Given the description of an element on the screen output the (x, y) to click on. 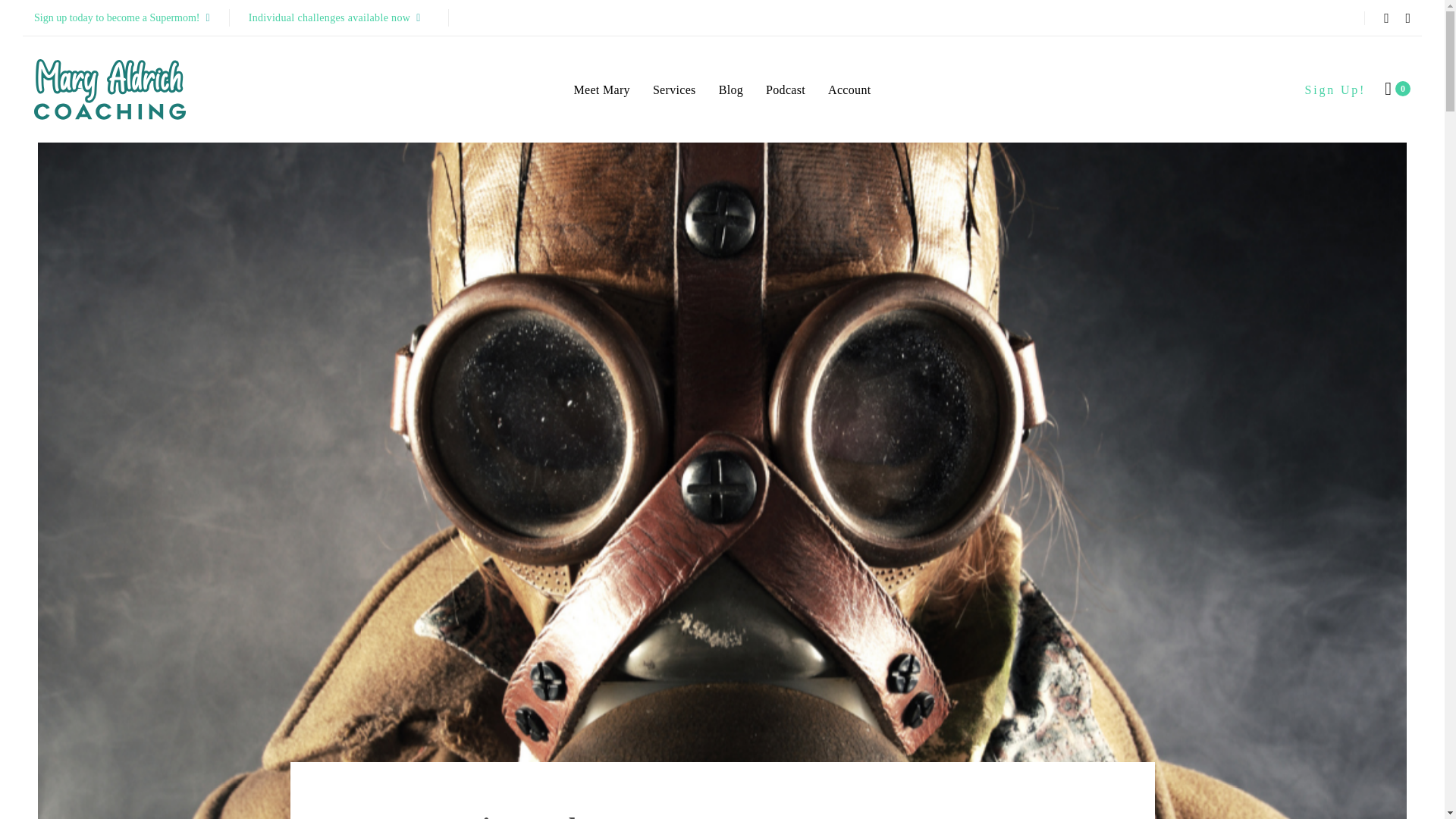
Challenges (338, 17)
Sign up today to become a Supermom! (121, 17)
Register (121, 17)
Signup (1335, 89)
Individual challenges available now (338, 17)
Sign Up! (1335, 89)
